Given the description of an element on the screen output the (x, y) to click on. 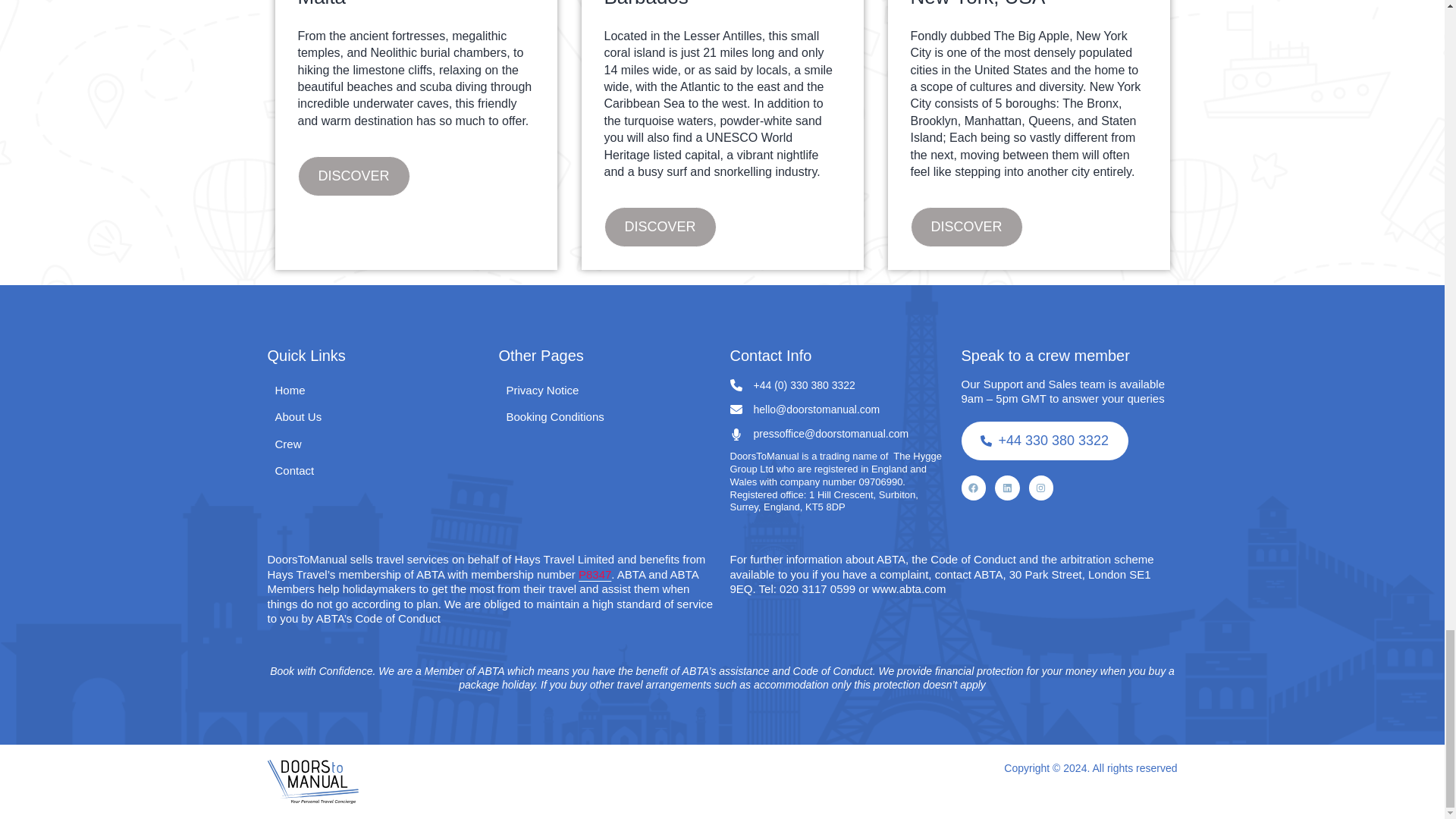
Home (289, 390)
Contact (294, 470)
Crew (288, 444)
Privacy Notice (542, 390)
About Us (298, 416)
DISCOVER (966, 226)
DISCOVER (660, 226)
DISCOVER (353, 175)
